Given the description of an element on the screen output the (x, y) to click on. 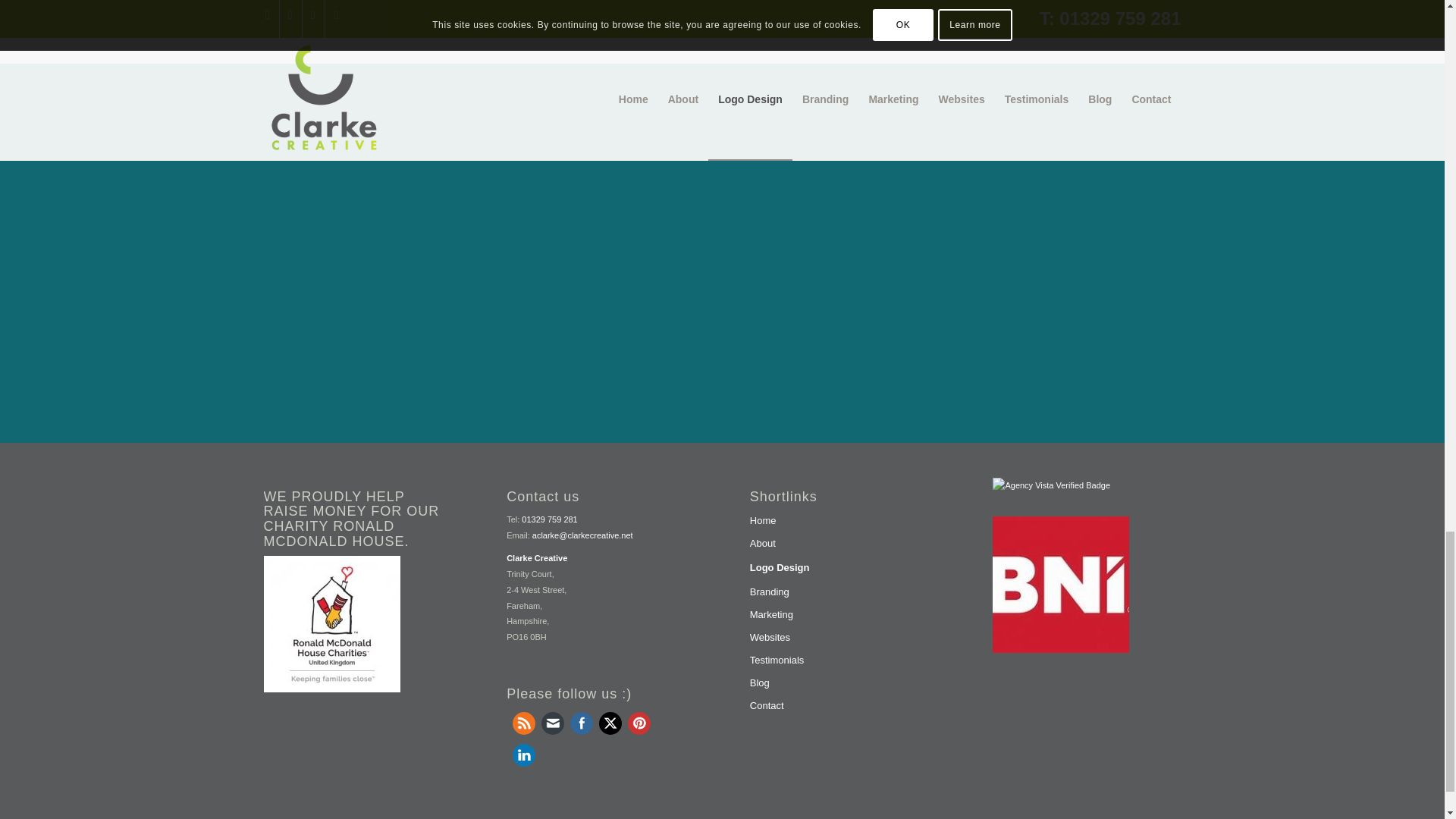
Home (843, 521)
Logo Design (843, 568)
Branding (843, 592)
Submit (641, 315)
Marketing (843, 615)
About (843, 544)
01329 759 281 (548, 519)
